Given the description of an element on the screen output the (x, y) to click on. 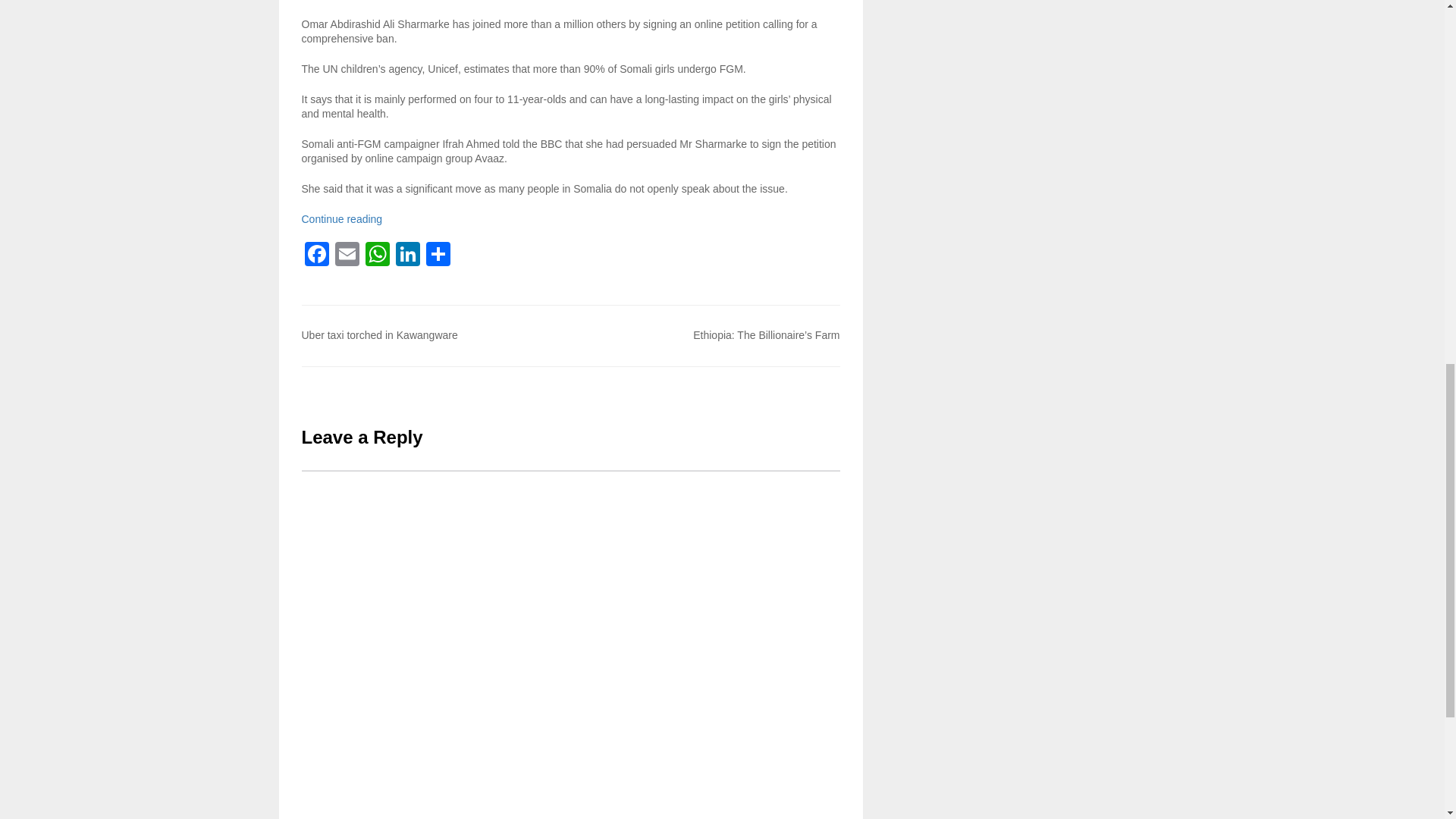
Continue reading (341, 218)
Email (346, 255)
Facebook (316, 255)
WhatsApp (377, 255)
LinkedIn (408, 255)
Uber taxi torched in Kawangware (379, 335)
